Given the description of an element on the screen output the (x, y) to click on. 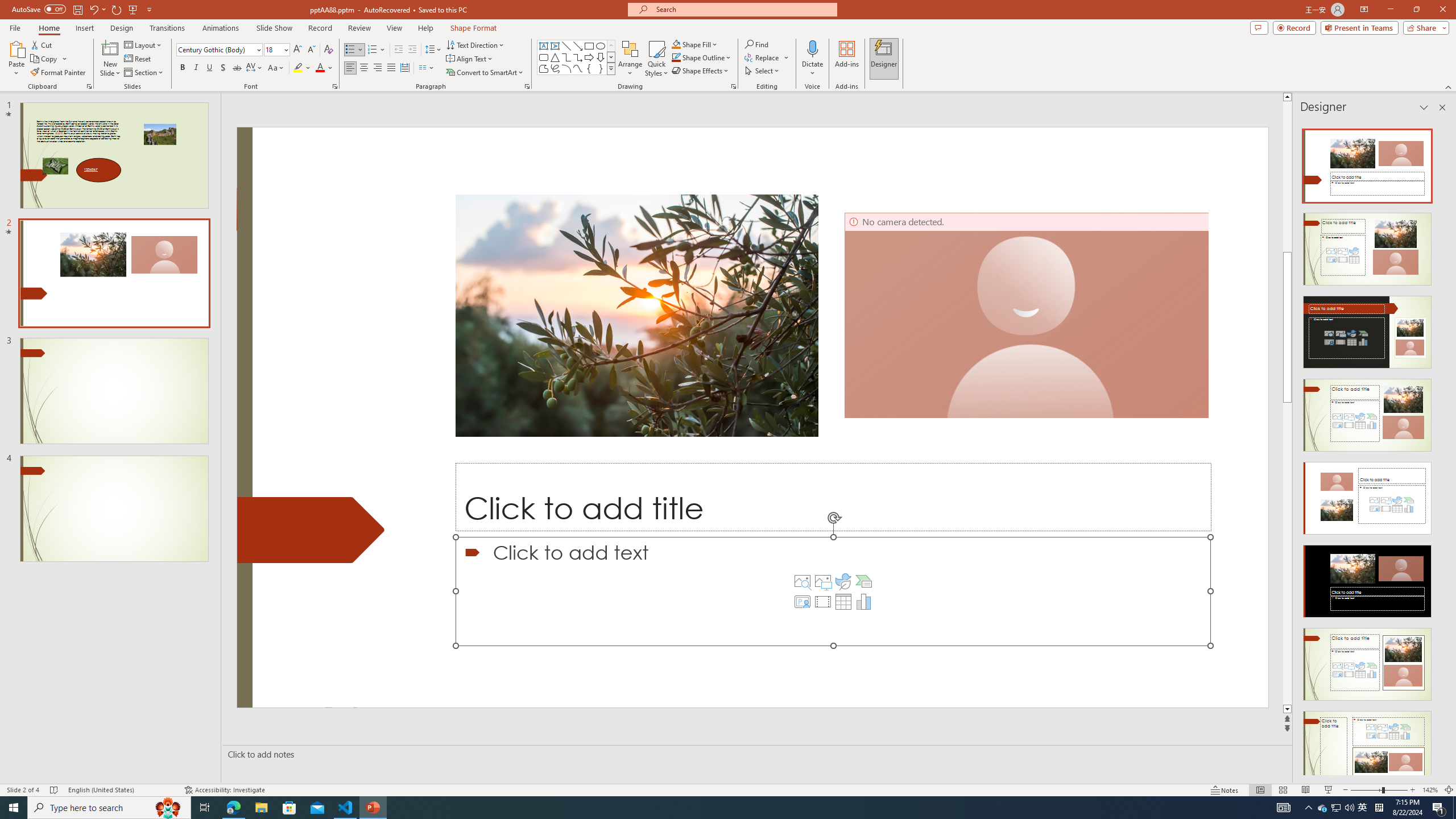
Font Color (324, 67)
Line Arrow (577, 45)
Strikethrough (237, 67)
Line down (1450, 709)
Close pane (1441, 107)
Clear Formatting (327, 49)
Insert a SmartArt Graphic (863, 581)
Paste (16, 48)
Class: NetUIImage (610, 68)
